Given the description of an element on the screen output the (x, y) to click on. 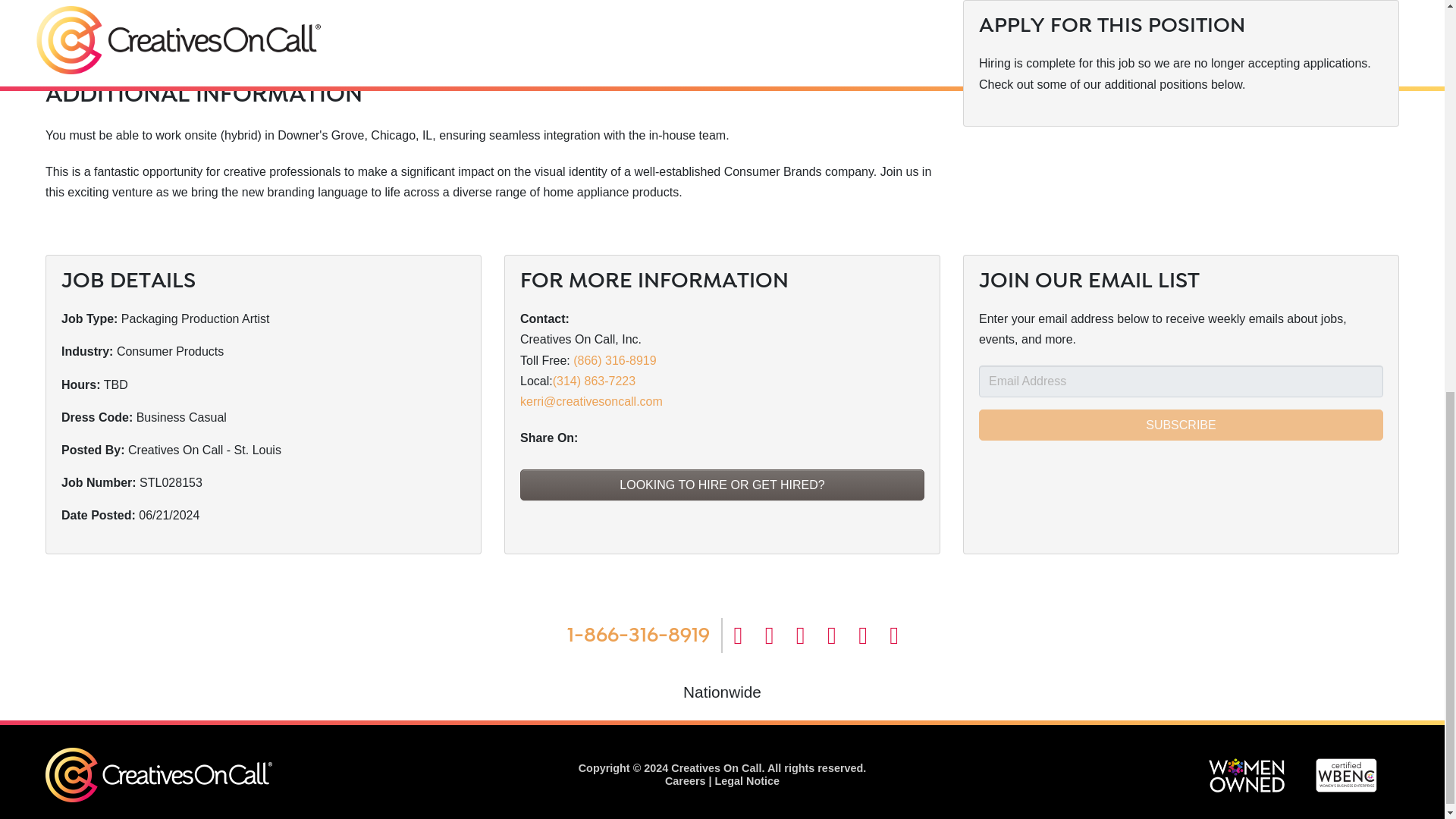
Twitter (780, 635)
Slack (843, 635)
Facebook (749, 635)
LinkedIn (811, 635)
Subscribe (1180, 424)
Careers (685, 780)
Instagram (874, 635)
Subscribe (1180, 424)
1-866-316-8919 (638, 634)
Legal Notice (747, 780)
